Given the description of an element on the screen output the (x, y) to click on. 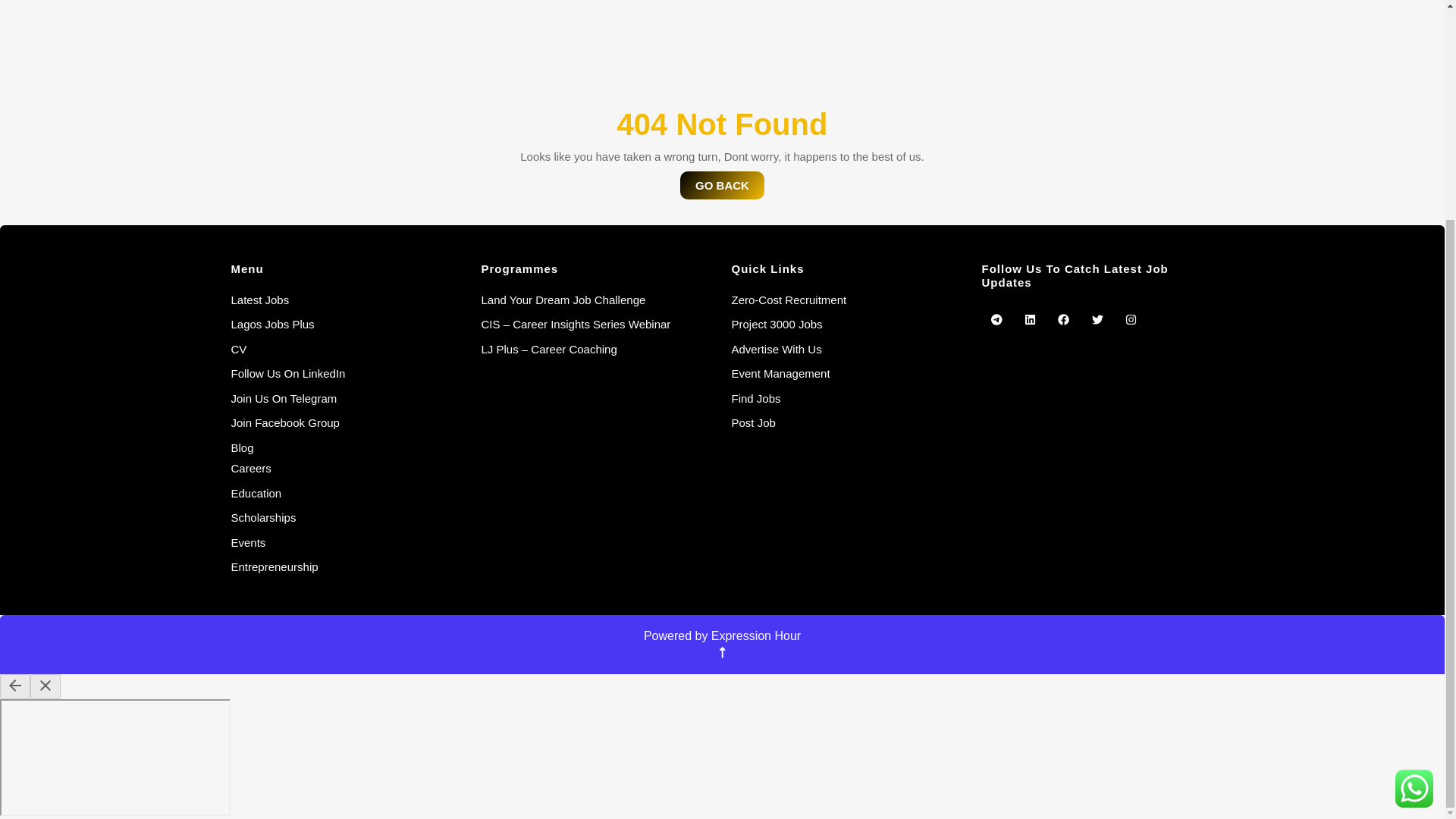
telegram (996, 319)
Education (255, 492)
Join Us On Telegram (283, 397)
Lagos Jobs Plus (272, 323)
Follow Us On LinkedIn (287, 373)
instagram (1130, 319)
GO BACK (721, 185)
CV (238, 349)
Land Your Dream Job Challenge (562, 298)
linkedin (1029, 319)
Entrepreneurship (273, 566)
Scholarships (262, 517)
Events (247, 541)
Careers (250, 468)
twitter (1096, 319)
